Given the description of an element on the screen output the (x, y) to click on. 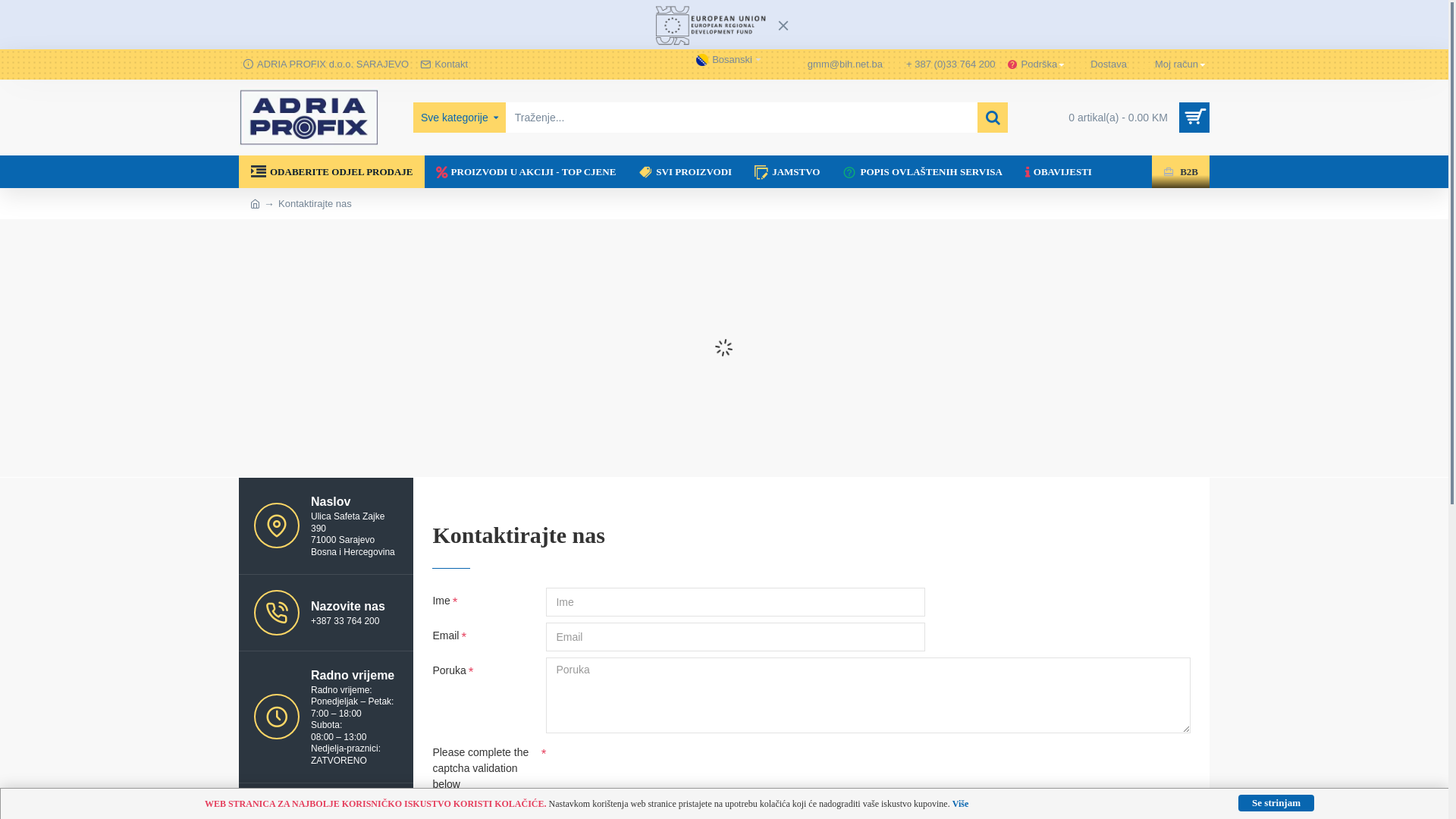
0 artikal(a) - 0.00 KM Element type: text (1133, 117)
gmm@bih.net.ba Element type: text (837, 64)
OBAVIJESTI Element type: text (1058, 171)
JAMSTVO Element type: text (787, 171)
ADRIA PROFIX d.o.o. SARAJEVO Element type: hover (308, 117)
SVI PROIZVODI Element type: text (685, 171)
Bosanski Element type: hover (702, 59)
Kontakt Element type: text (443, 64)
+ 387 (0)33 764 200 Element type: text (944, 64)
PROIZVODI U AKCIJI - TOP CJENE Element type: text (525, 171)
Dostava Element type: text (1101, 64)
B2B Element type: text (1180, 171)
ODABERITE ODJEL PRODAJE Element type: text (331, 171)
Bosanski Element type: text (724, 59)
Nazovite nas
+387 33 764 200 Element type: text (325, 612)
Kontaktirajte nas Element type: text (314, 203)
ADRIA PROFIX d.o.o. SARAJEVO Element type: text (325, 64)
